Given the description of an element on the screen output the (x, y) to click on. 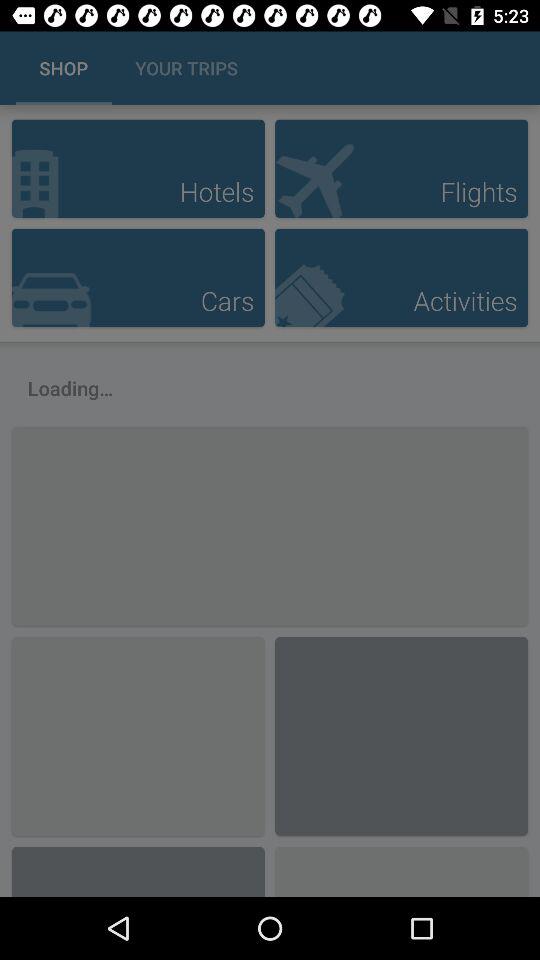
see activities (401, 277)
